Given the description of an element on the screen output the (x, y) to click on. 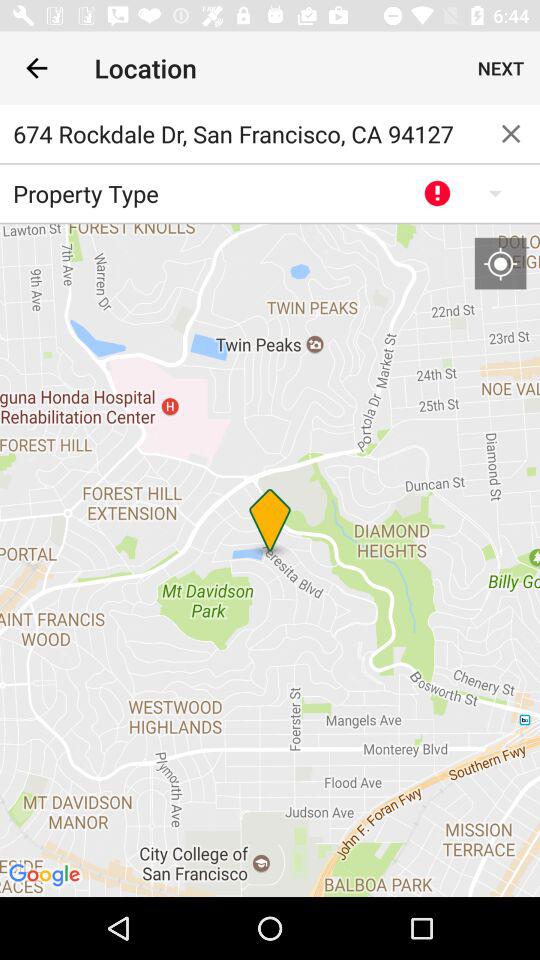
close search (511, 133)
